Given the description of an element on the screen output the (x, y) to click on. 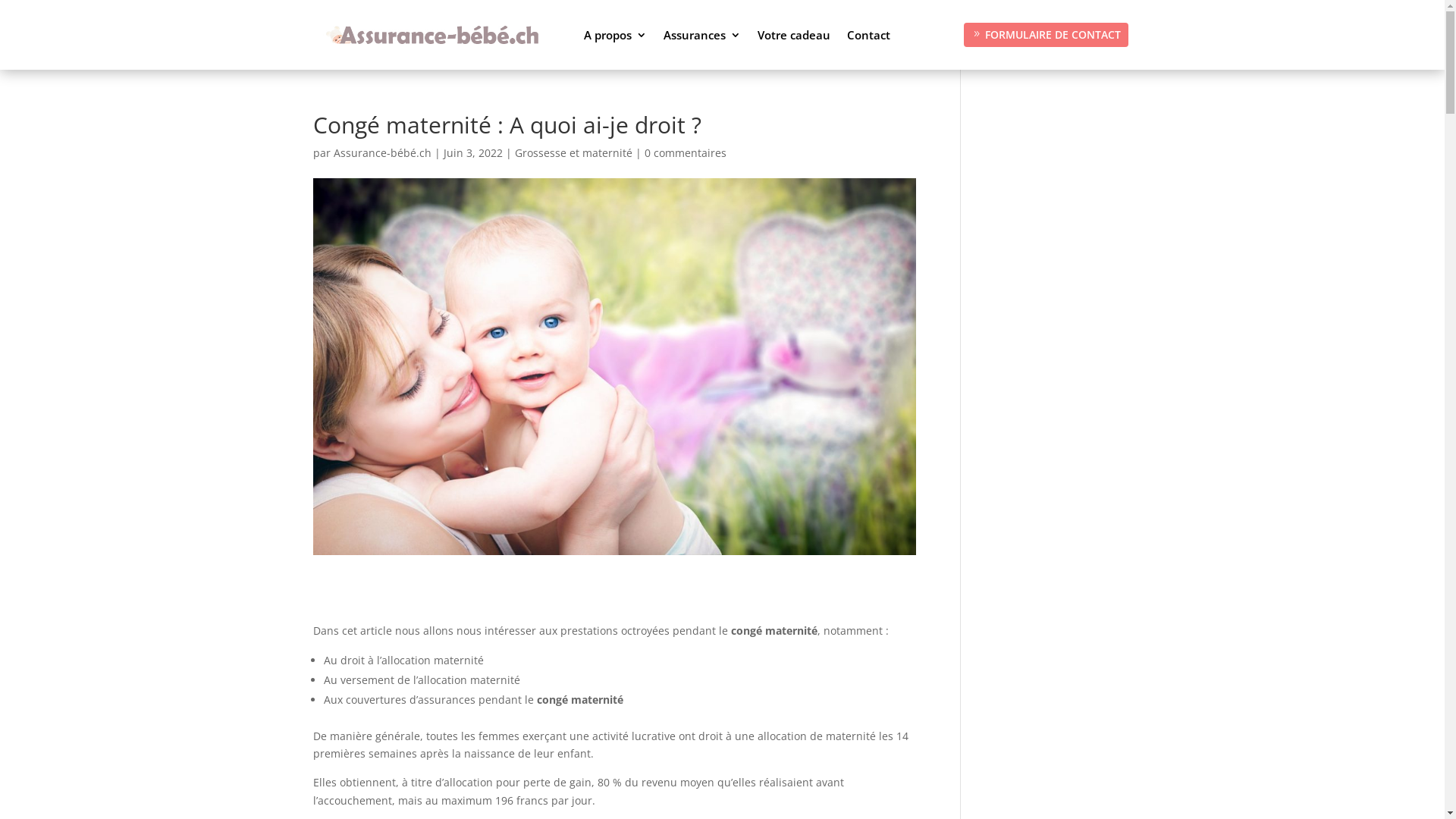
Contact Element type: text (868, 34)
FORMULAIRE DE CONTACT Element type: text (1045, 34)
Votre cadeau Element type: text (793, 34)
Assurances Element type: text (701, 34)
A propos Element type: text (614, 34)
0 commentaires Element type: text (685, 152)
